Given the description of an element on the screen output the (x, y) to click on. 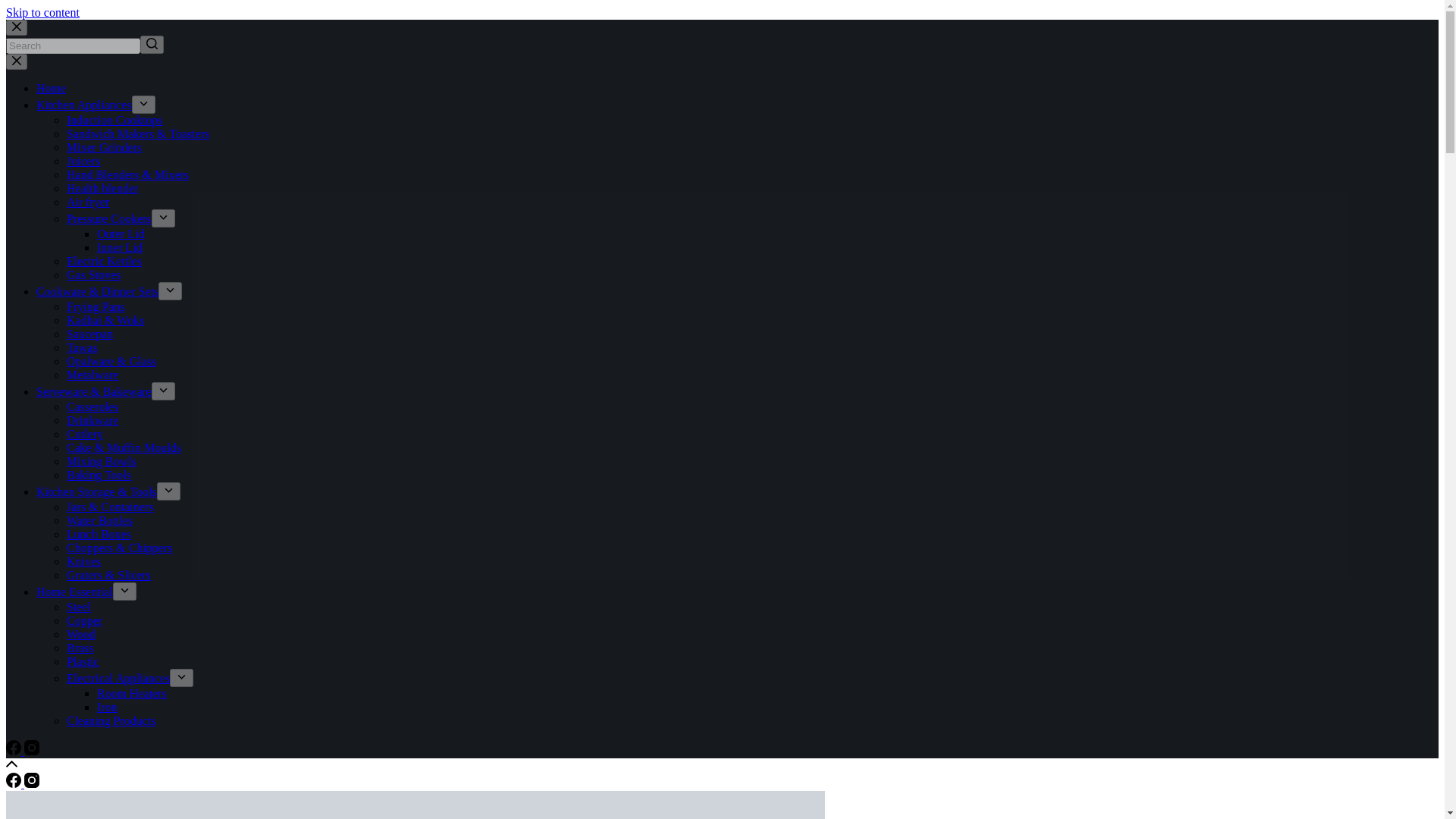
Drinkware (91, 420)
Baking Tools (98, 474)
Skip to content (42, 11)
Metalware (91, 374)
Outer Lid (120, 233)
Mixing Bowls (101, 461)
Casseroles (91, 406)
Mixer Grinders (103, 146)
Electric Kettles (103, 260)
Air fryer (87, 201)
